Given the description of an element on the screen output the (x, y) to click on. 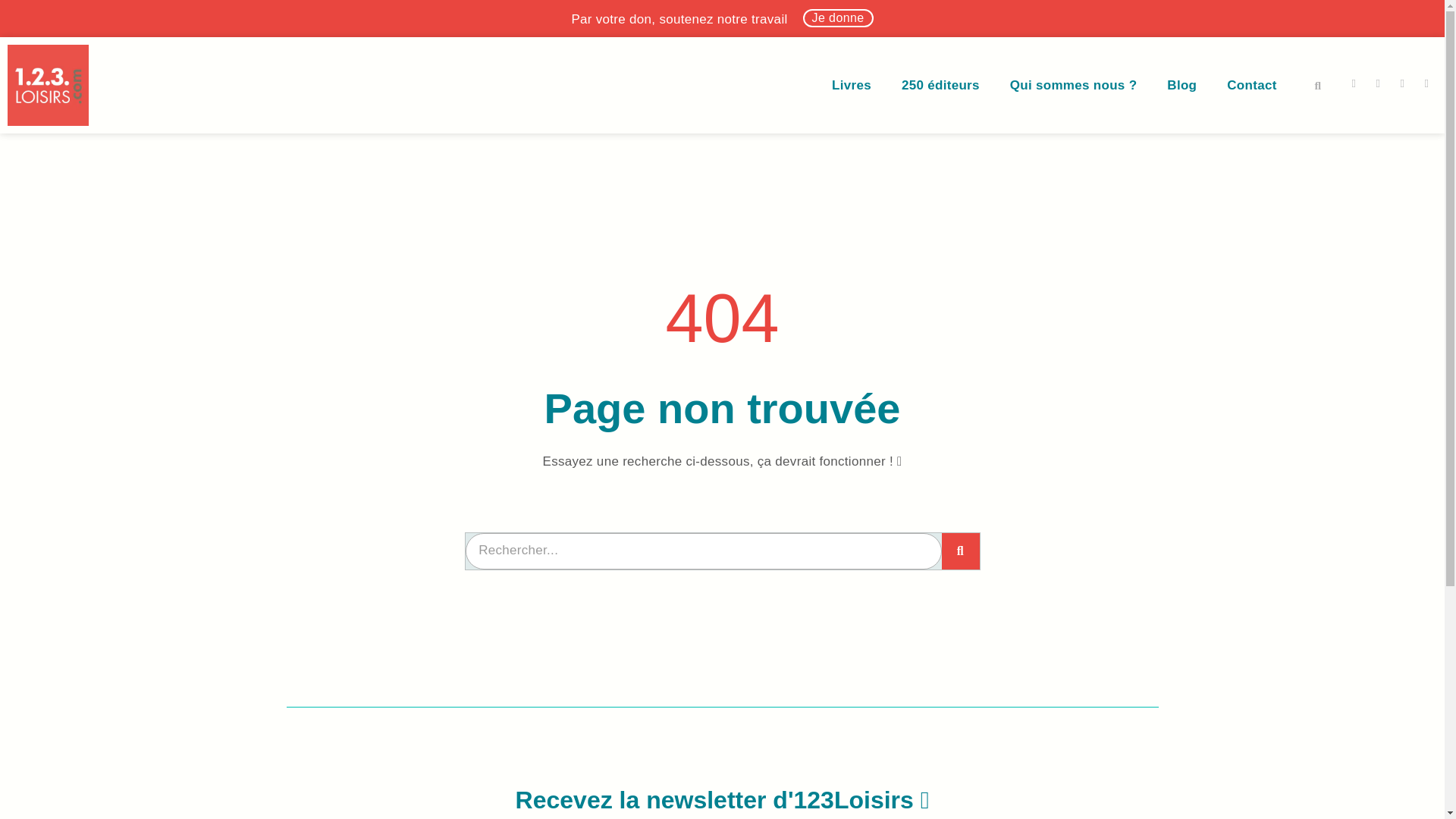
Blog Element type: text (1181, 85)
Livres Element type: text (851, 85)
Je donne Element type: text (838, 18)
Qui sommes nous ? Element type: text (1073, 85)
Contact Element type: text (1251, 85)
